Given the description of an element on the screen output the (x, y) to click on. 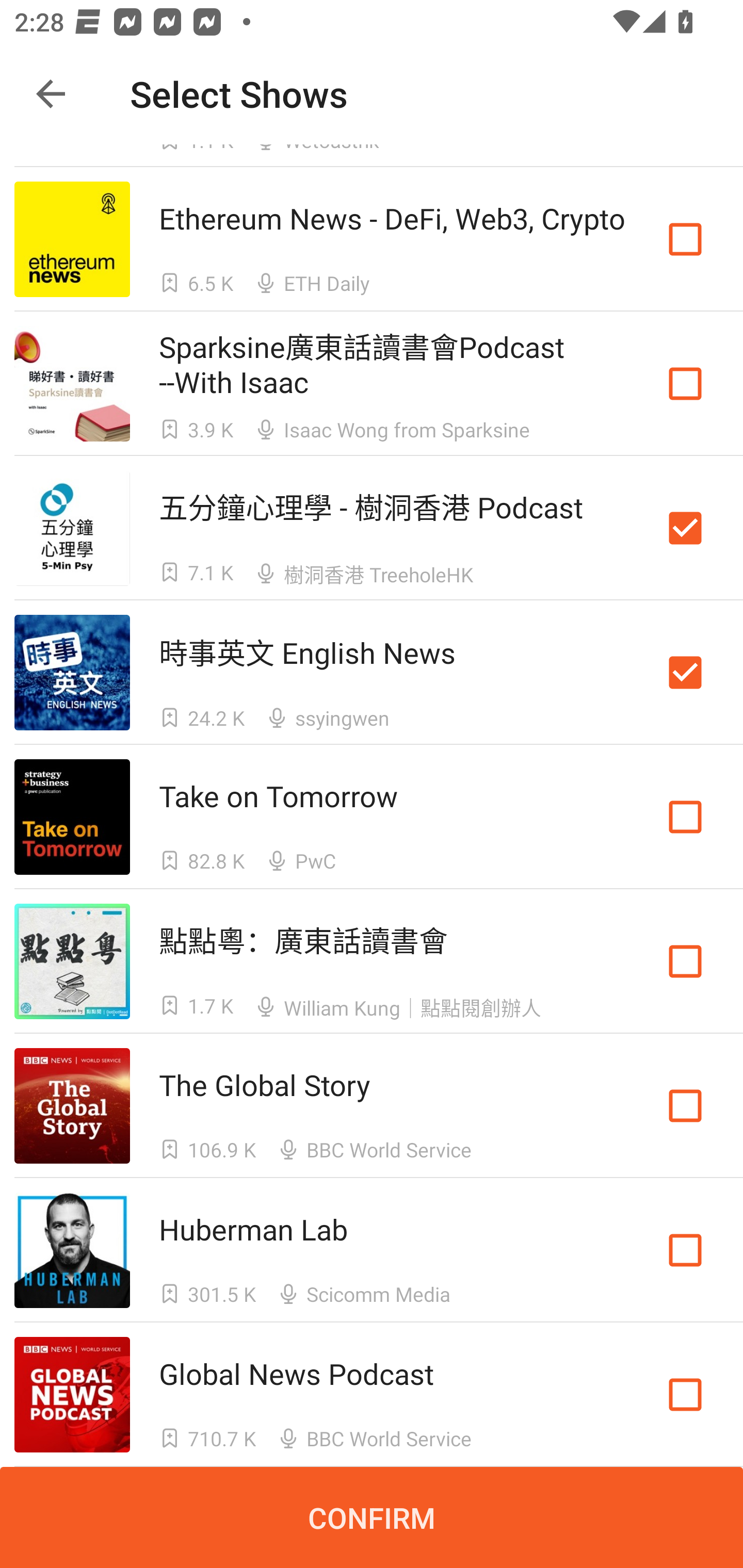
Navigate up (50, 93)
Take on Tomorrow Take on Tomorrow  82.8 K  PwC (371, 816)
CONFIRM (371, 1517)
